Given the description of an element on the screen output the (x, y) to click on. 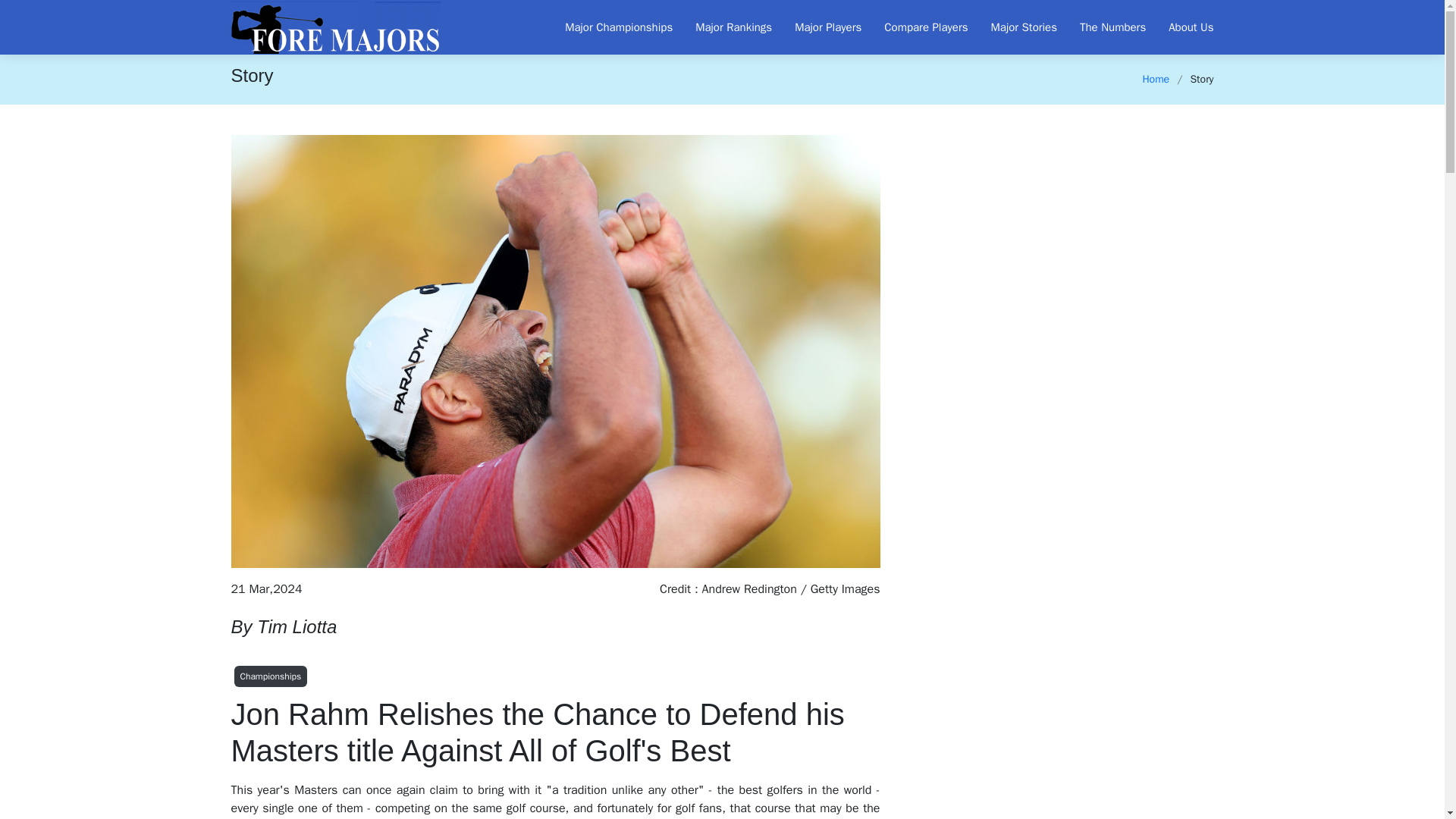
Major Players (816, 27)
Major Championships (606, 27)
About Us (1178, 27)
Major Rankings (721, 27)
Major Championships (606, 27)
The Numbers (1101, 27)
Major Stories (1012, 27)
Home (1155, 78)
Compare Players (914, 27)
Major Rankings (721, 27)
